Given the description of an element on the screen output the (x, y) to click on. 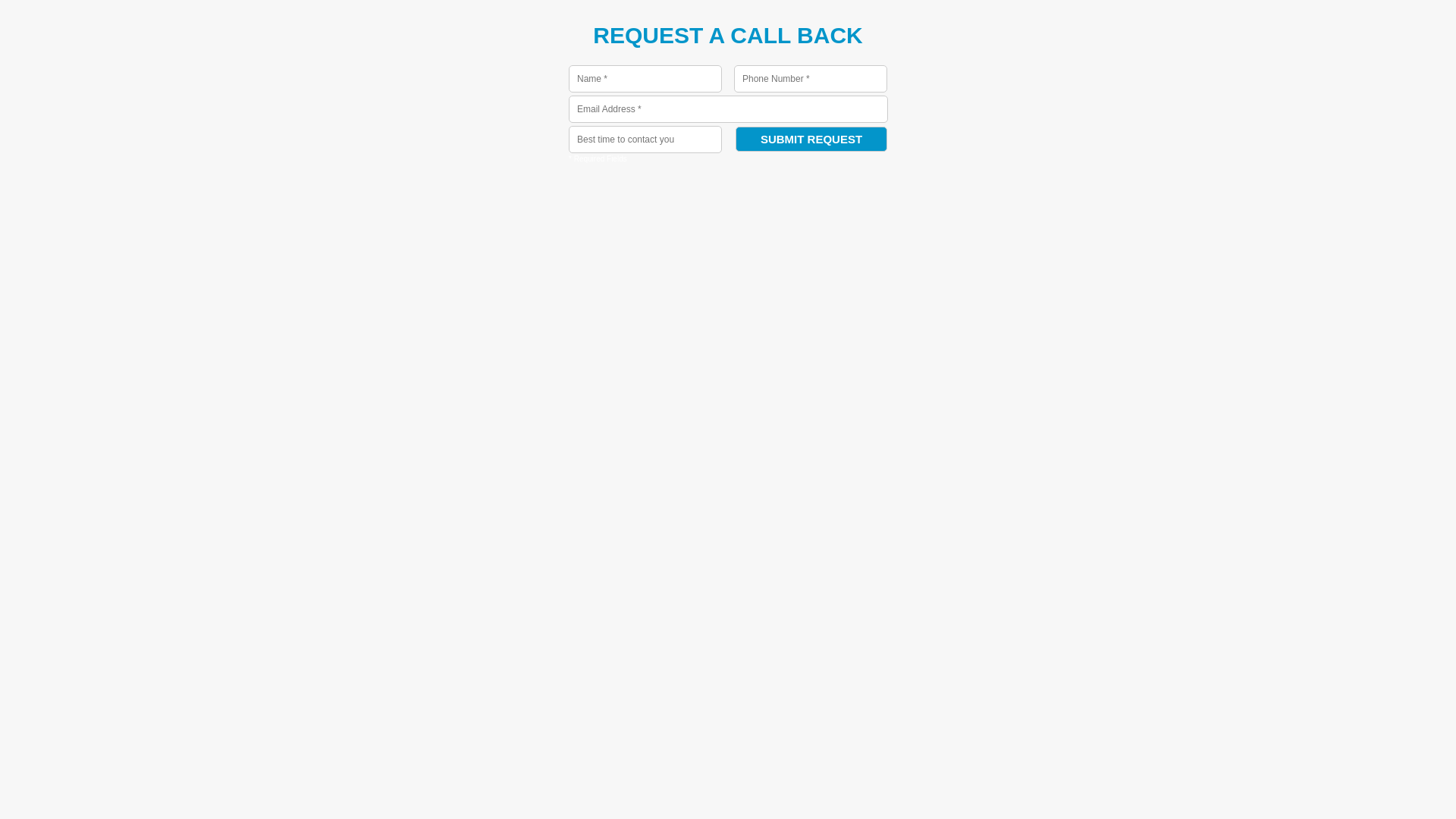
Submit Request Element type: text (811, 138)
